Given the description of an element on the screen output the (x, y) to click on. 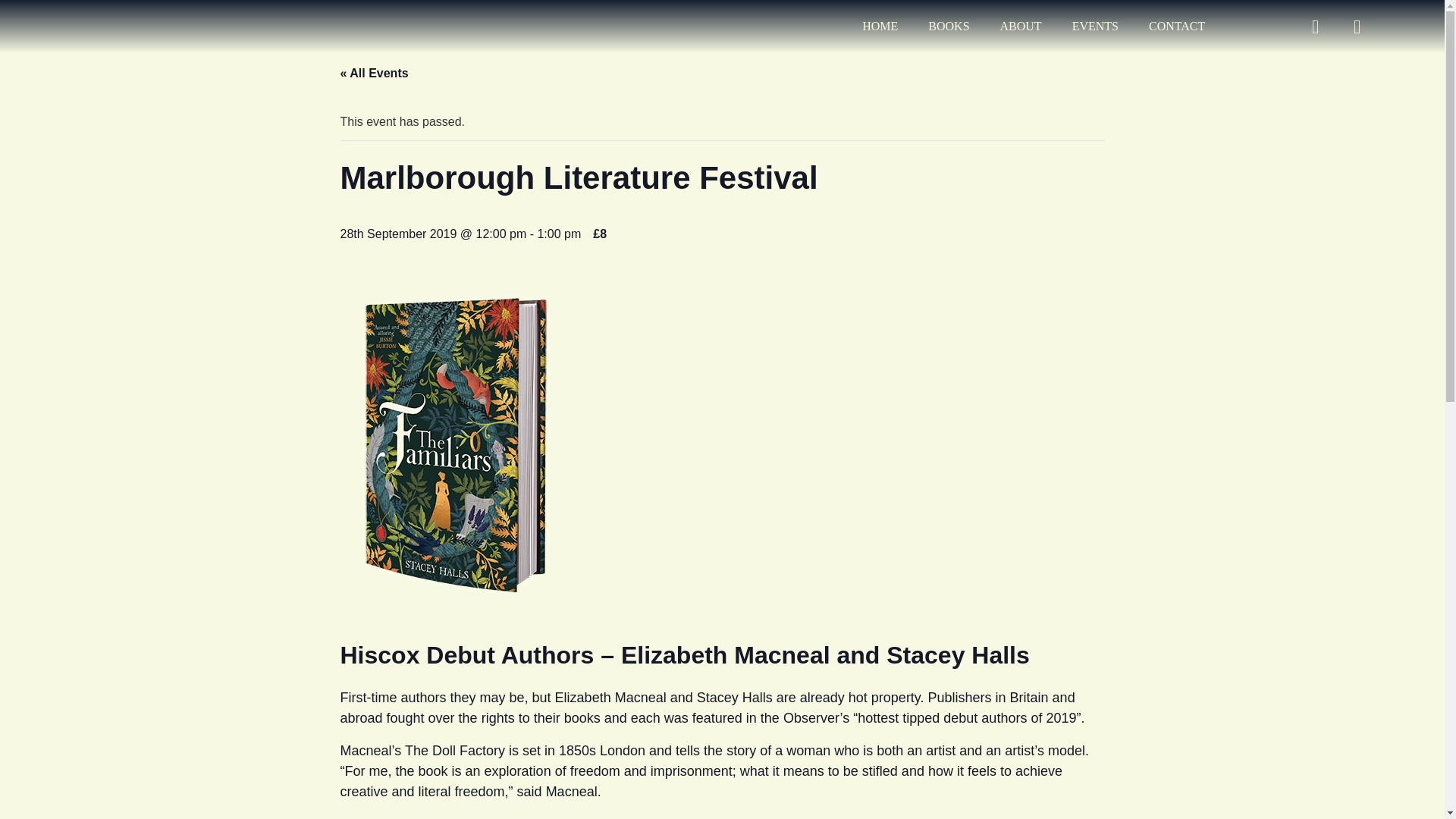
EVENTS (1095, 26)
CONTACT (1177, 26)
HOME (879, 26)
ABOUT (1021, 26)
BOOKS (948, 26)
